Given the description of an element on the screen output the (x, y) to click on. 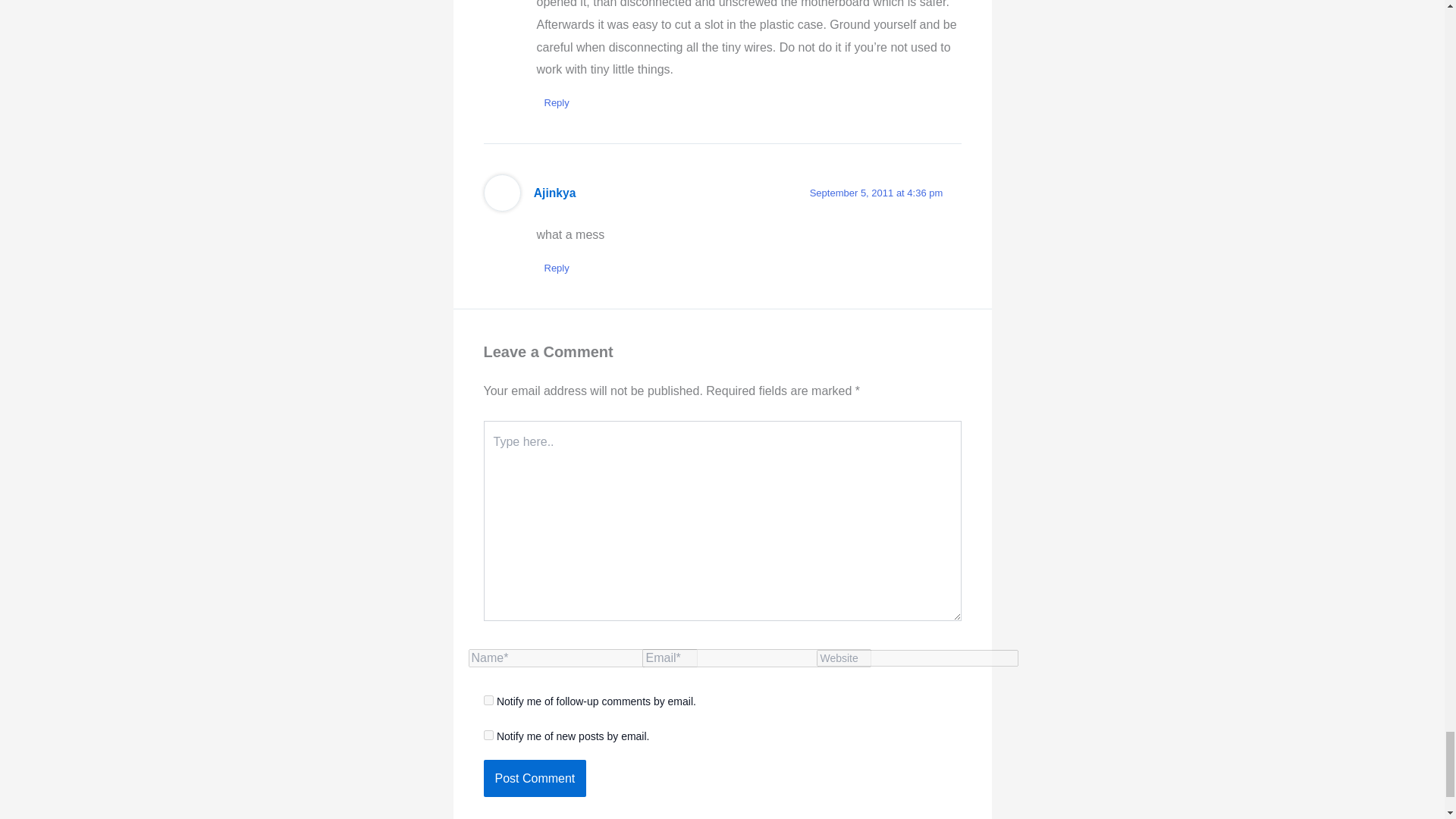
subscribe (488, 700)
Post Comment (534, 778)
subscribe (488, 735)
